Given the description of an element on the screen output the (x, y) to click on. 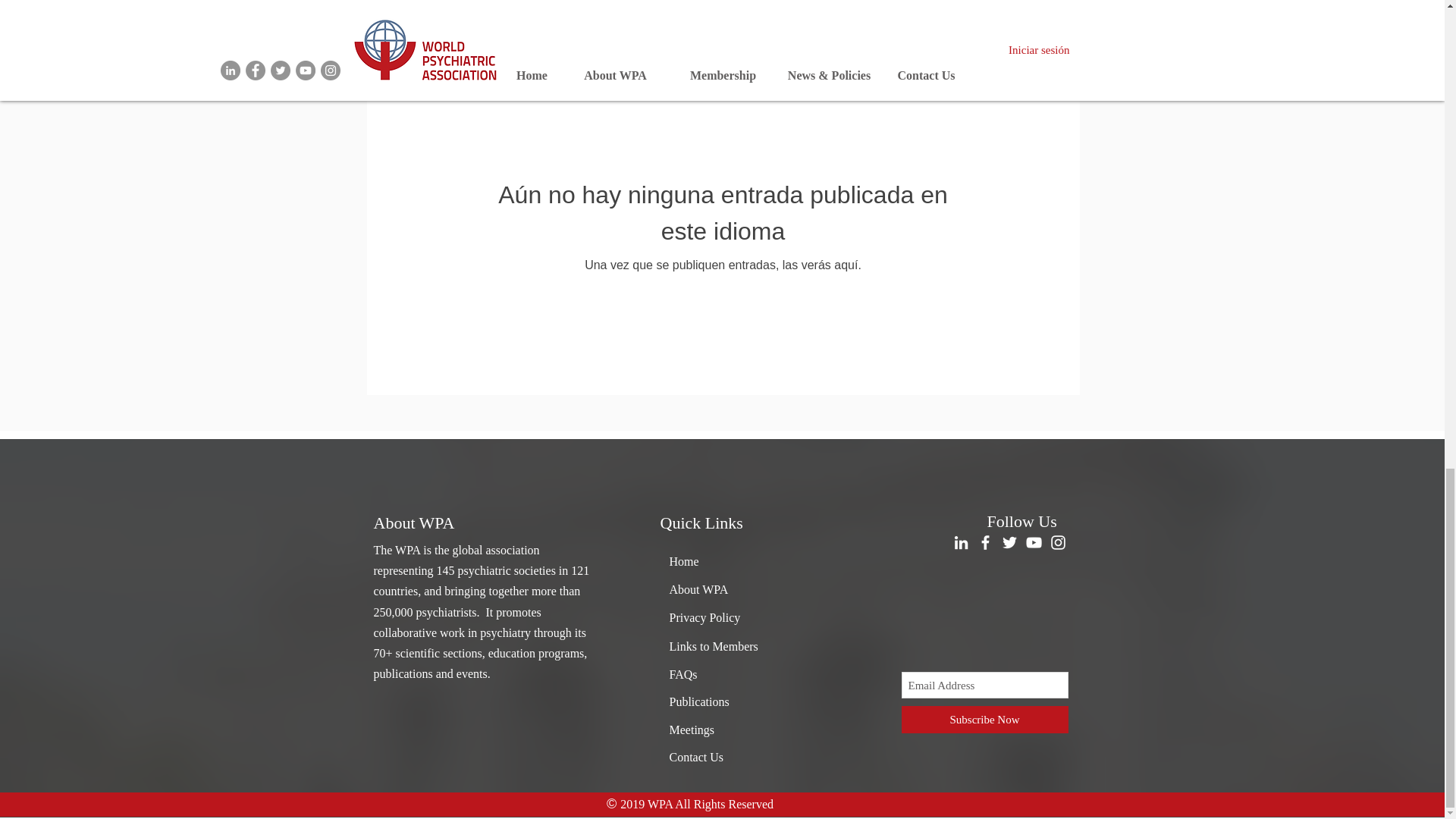
Subscribe Now (984, 719)
Contact Us (695, 757)
Home (683, 561)
Publications (698, 701)
Meetings (691, 729)
Links to Members (712, 645)
Privacy Policy (703, 617)
About WPA (698, 589)
FAQs (682, 674)
